Given the description of an element on the screen output the (x, y) to click on. 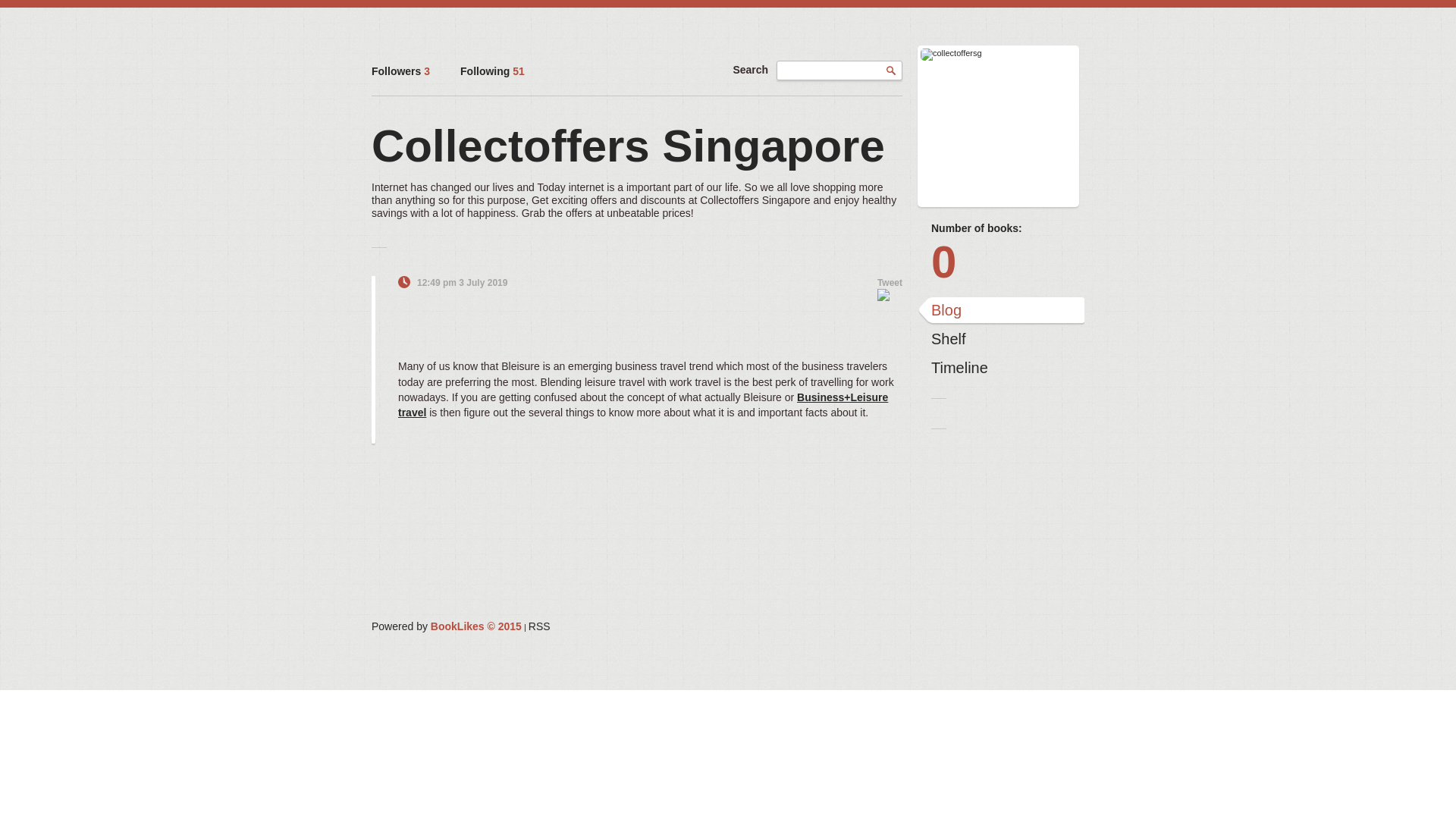
RSS (539, 625)
Following 51 (492, 70)
0 (1000, 262)
Blog (1000, 311)
Shelf (1000, 339)
Number of books: (1000, 228)
BookLikes (446, 625)
Timeline (1000, 369)
BookLikes (539, 625)
12:49 pm 3 July 2019 (461, 282)
Followers 3 (400, 70)
Tweet (889, 282)
Collectoffers Singapore (628, 145)
